Given the description of an element on the screen output the (x, y) to click on. 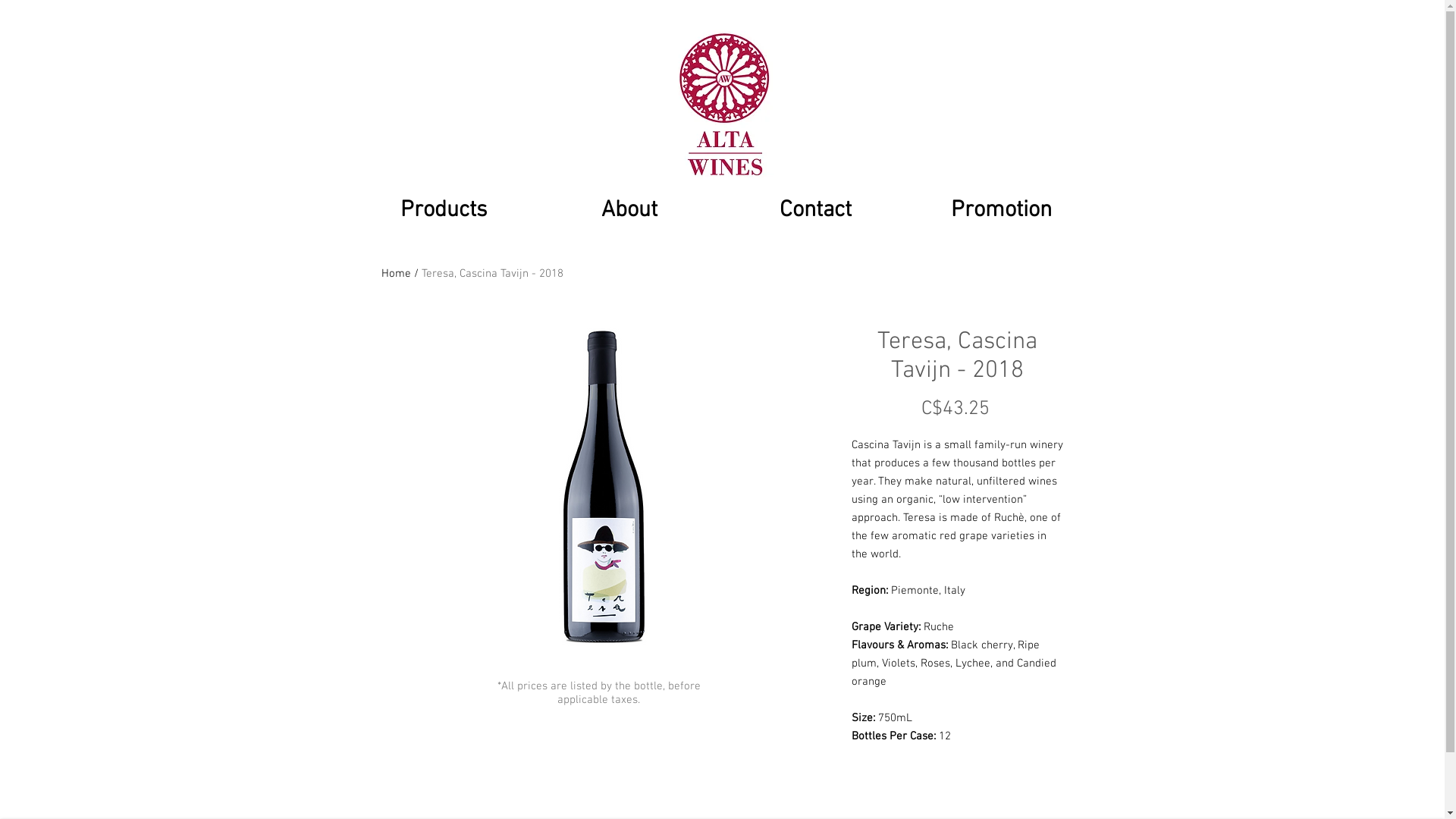
Contact Element type: text (814, 207)
Promotion Element type: text (1001, 207)
Products Element type: text (443, 207)
Teresa, Cascina Tavijn - 2018 Element type: text (492, 273)
About Element type: text (629, 207)
Home Element type: text (395, 273)
